Given the description of an element on the screen output the (x, y) to click on. 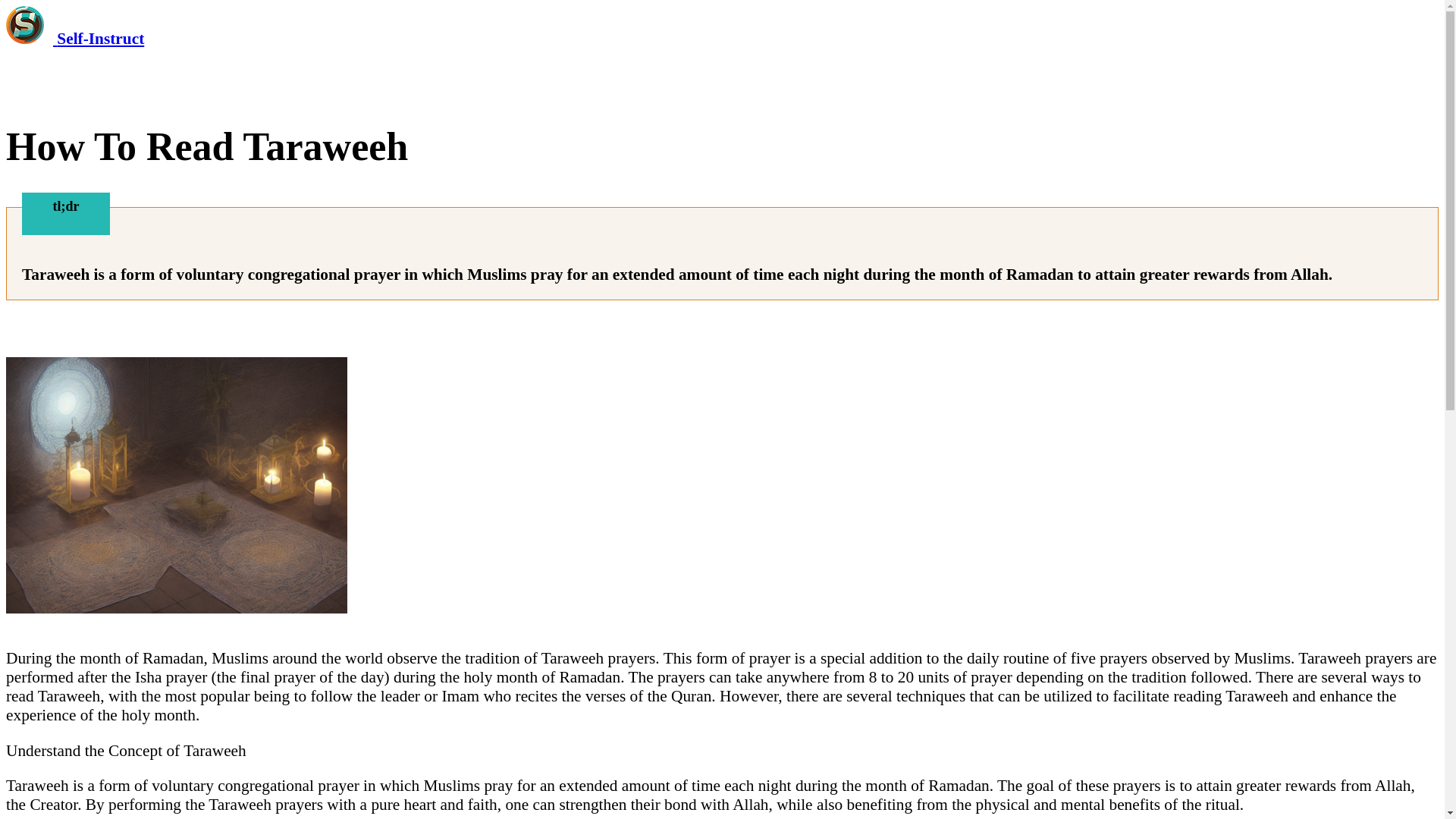
Self-Instruct (74, 38)
